Given the description of an element on the screen output the (x, y) to click on. 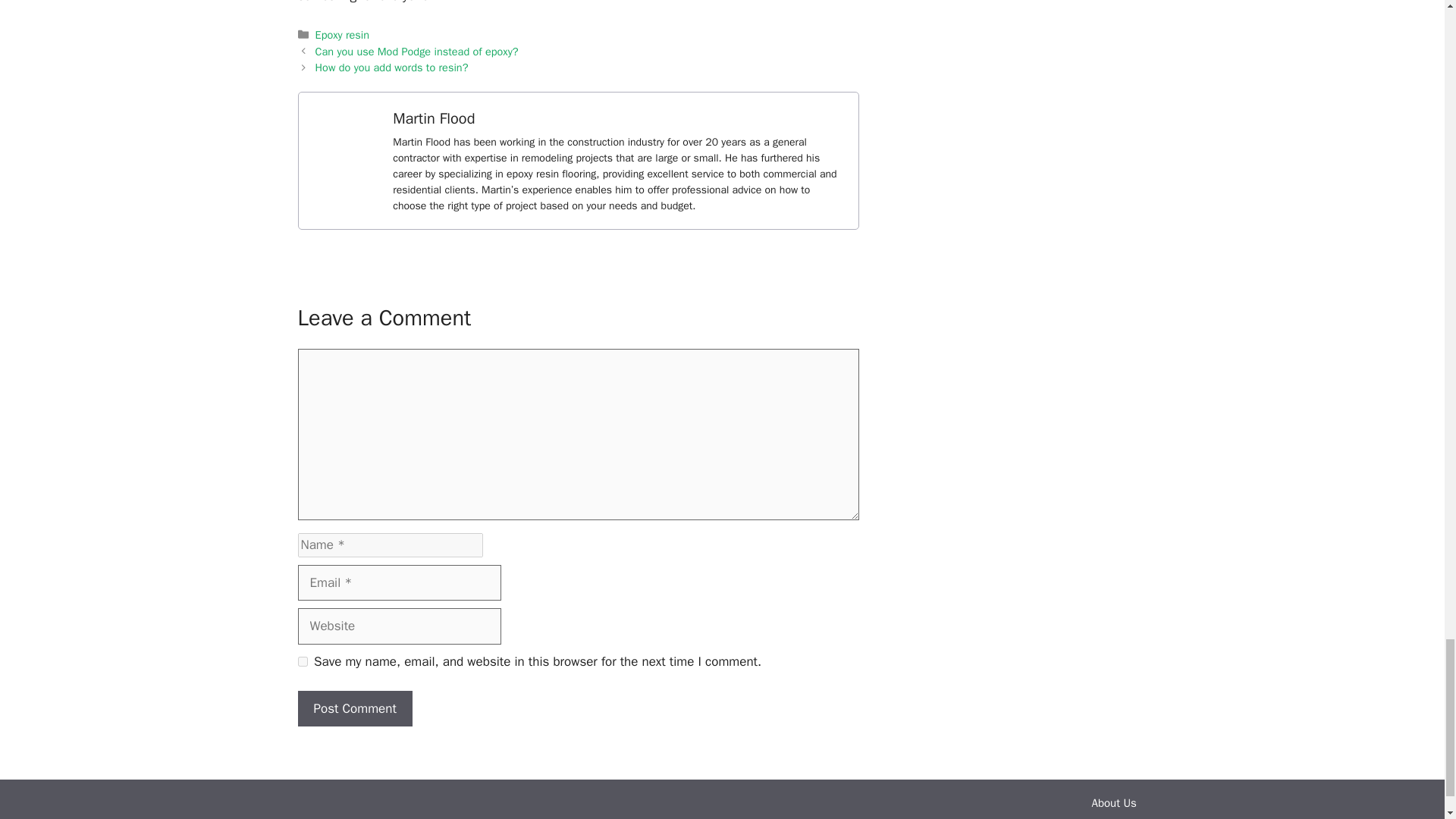
yes (302, 661)
Post Comment (354, 709)
